Given the description of an element on the screen output the (x, y) to click on. 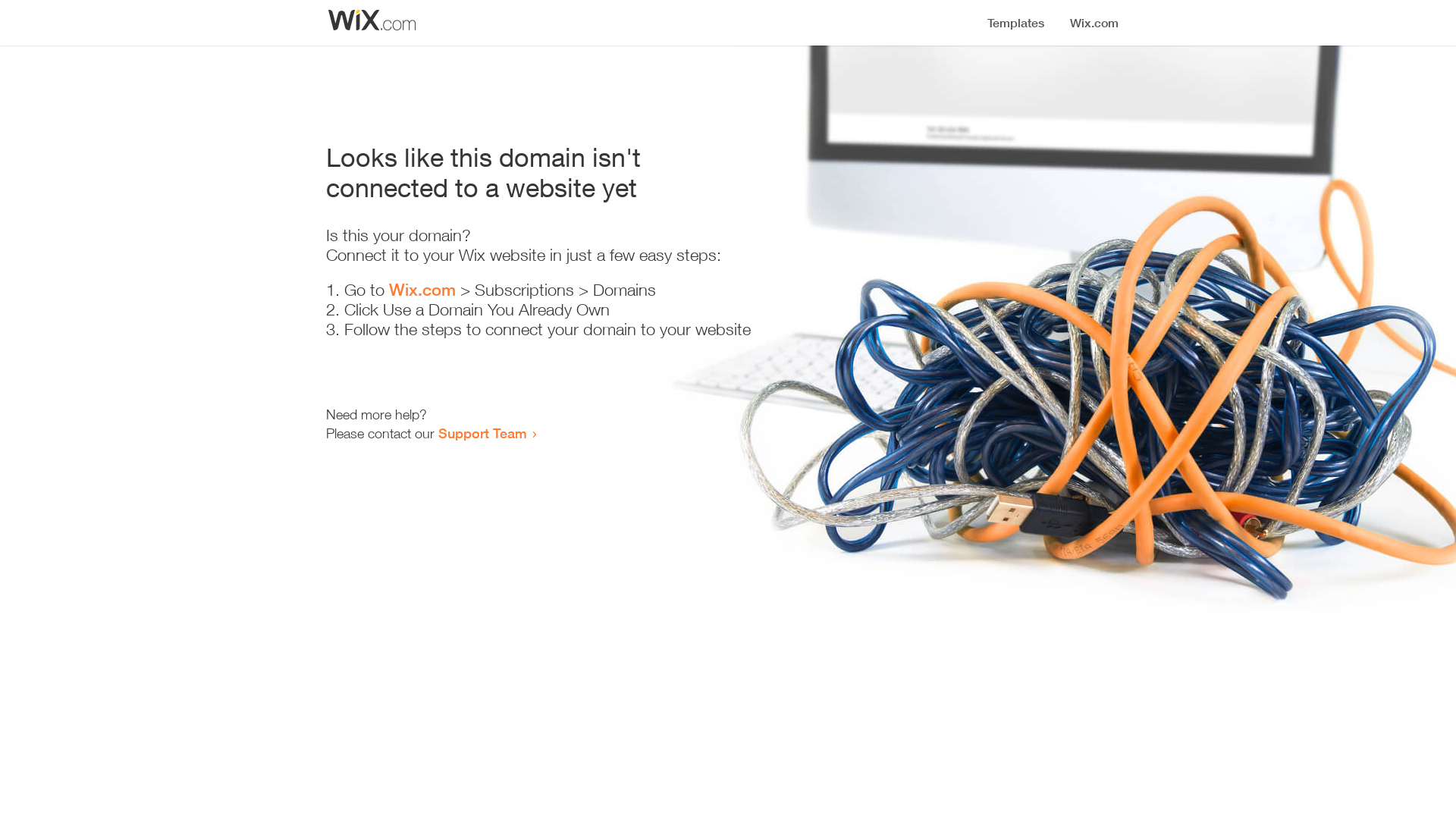
Wix.com Element type: text (422, 289)
Support Team Element type: text (482, 432)
